Given the description of an element on the screen output the (x, y) to click on. 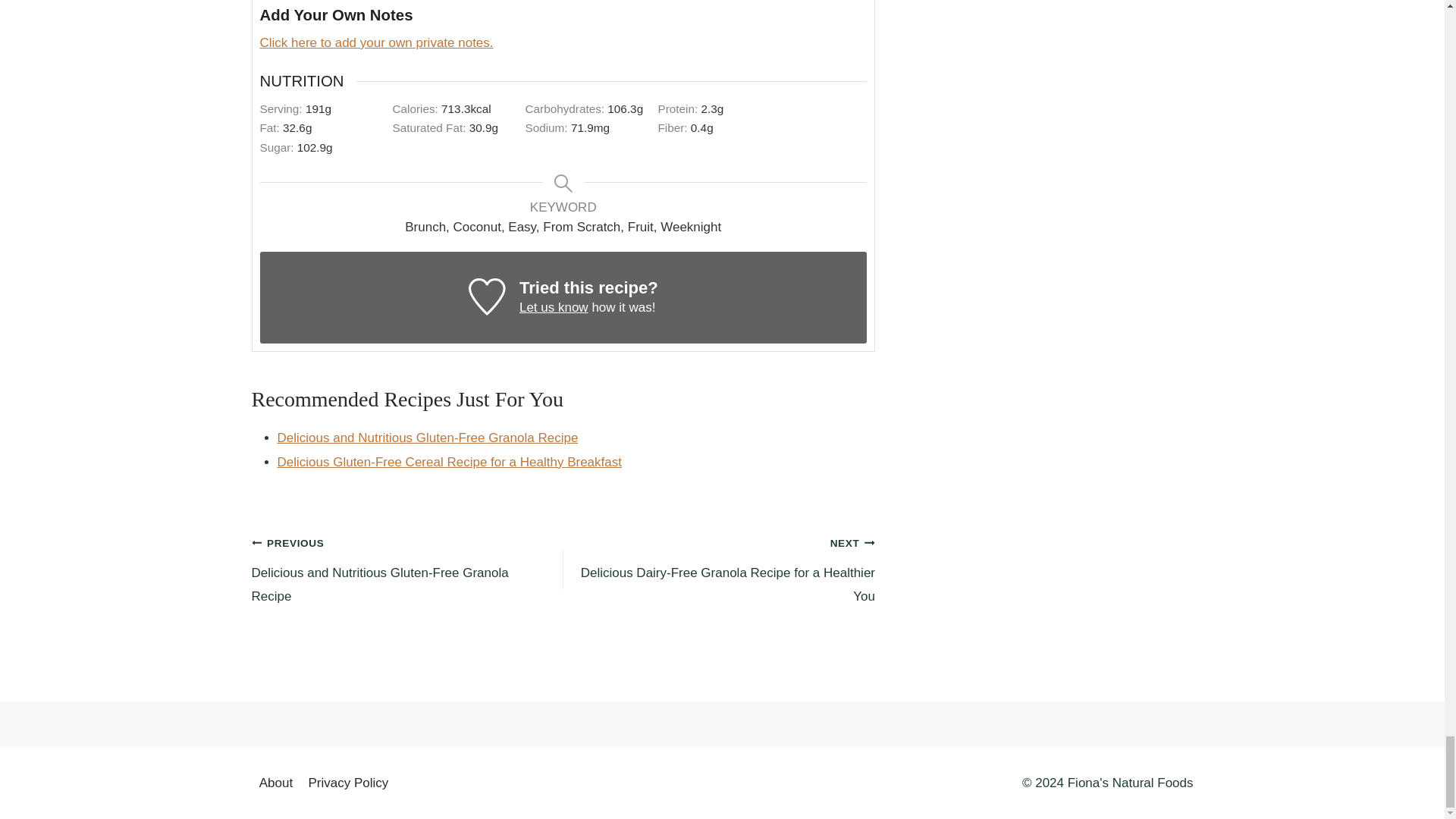
Click here to add your own private notes. (376, 42)
